Given the description of an element on the screen output the (x, y) to click on. 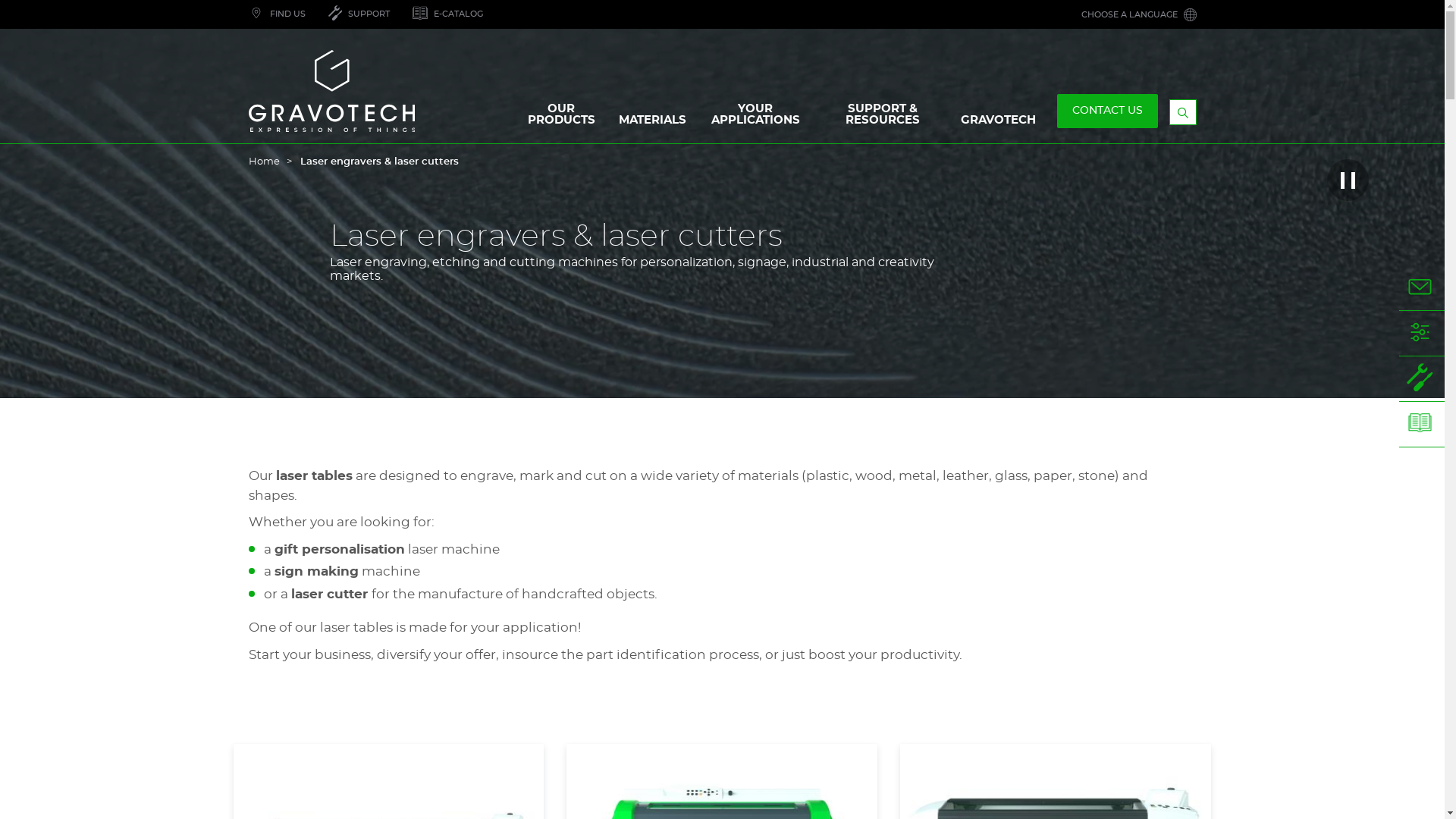
Play/Pause this video Element type: text (1347, 179)
SUPPORT & RESOURCES Element type: text (882, 118)
Skip to main content Element type: text (0, 0)
Gravotech Element type: text (343, 90)
E-CATALOG Element type: text (1421, 424)
Home Element type: text (269, 162)
Display the searchbar Element type: text (1182, 112)
OUR PRODUCTS Element type: text (560, 118)
GRAVOTECH Element type: text (997, 123)
Upload Element type: text (28, 8)
CREATED WITH LUNACY
E-CATALOG Element type: text (447, 14)
FIND YOUR SOLUTION Element type: text (1421, 333)
YOUR APPLICATIONS Element type: text (755, 118)
SUPPORT Element type: text (1421, 378)
MATERIALS Element type: text (652, 123)
CHOOSE A LANGUAGE Element type: text (1138, 14)
CONTACT US Element type: text (1107, 111)
CONTACT US Element type: text (1421, 287)
